Given the description of an element on the screen output the (x, y) to click on. 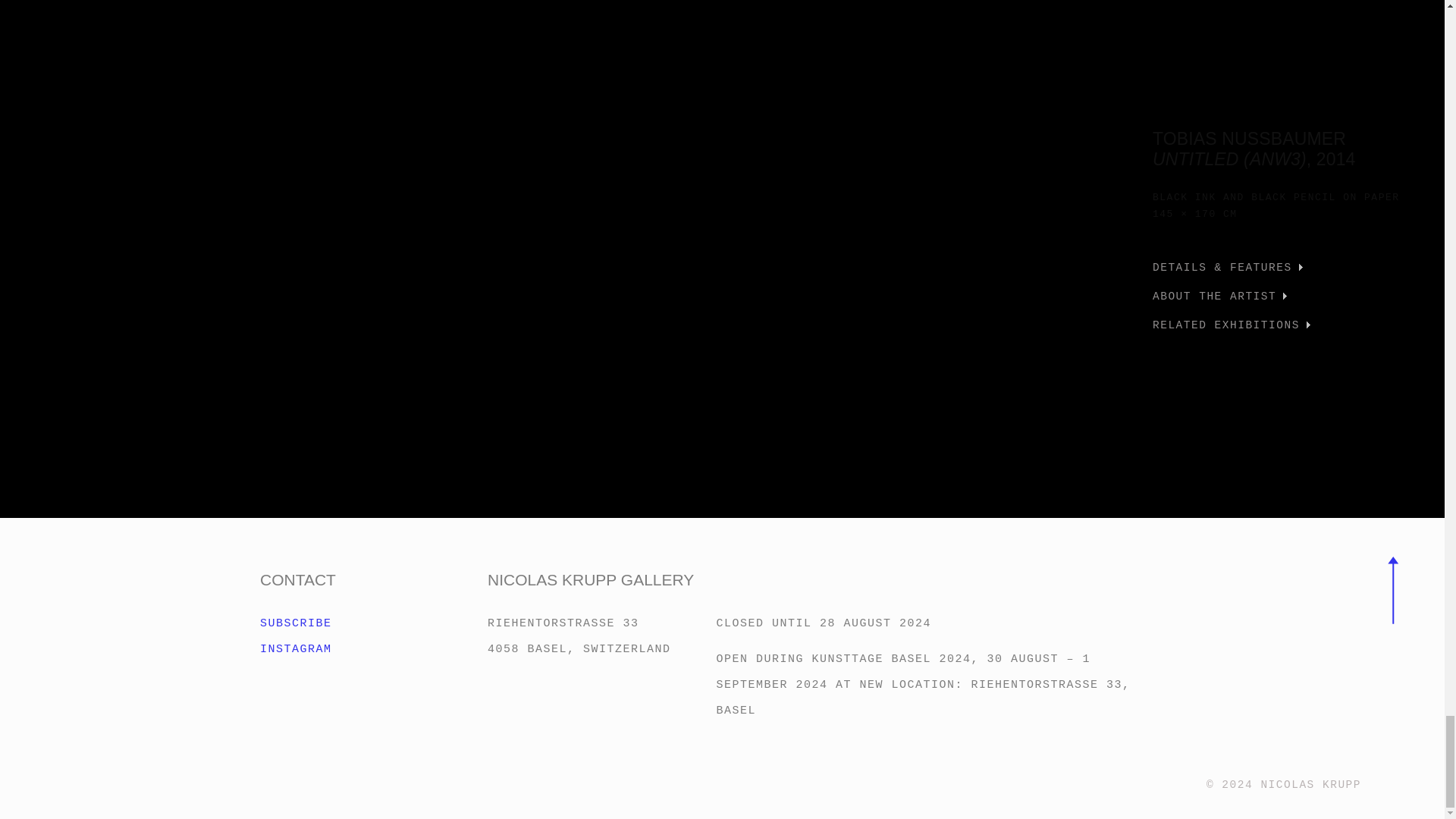
INSTAGRAM (600, 636)
SUBSCRIBE (373, 649)
